Given the description of an element on the screen output the (x, y) to click on. 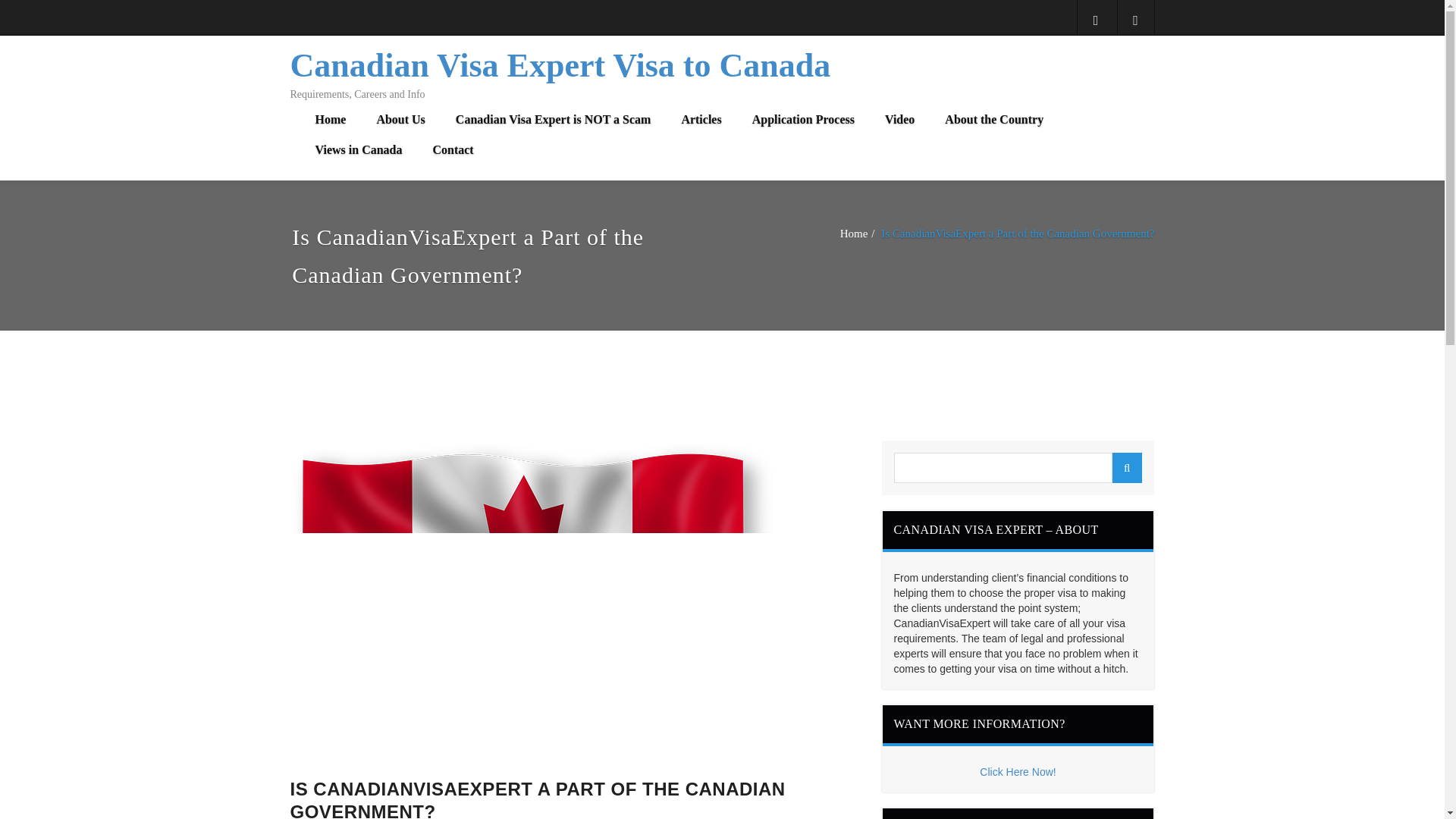
Application Process (802, 119)
IS CANADIANVISAEXPERT A PART OF THE CANADIAN GOVERNMENT? (574, 798)
Canadian Visa Expert is NOT a Scam (553, 119)
Contact (452, 150)
Views in Canada (358, 150)
Is CanadianVisaExpert a Part of the Canadian Government? (1017, 233)
About Us (400, 119)
Canadian Visa Expert Visa to Canada (559, 65)
Click Here Now! (1017, 771)
Articles (700, 119)
